Given the description of an element on the screen output the (x, y) to click on. 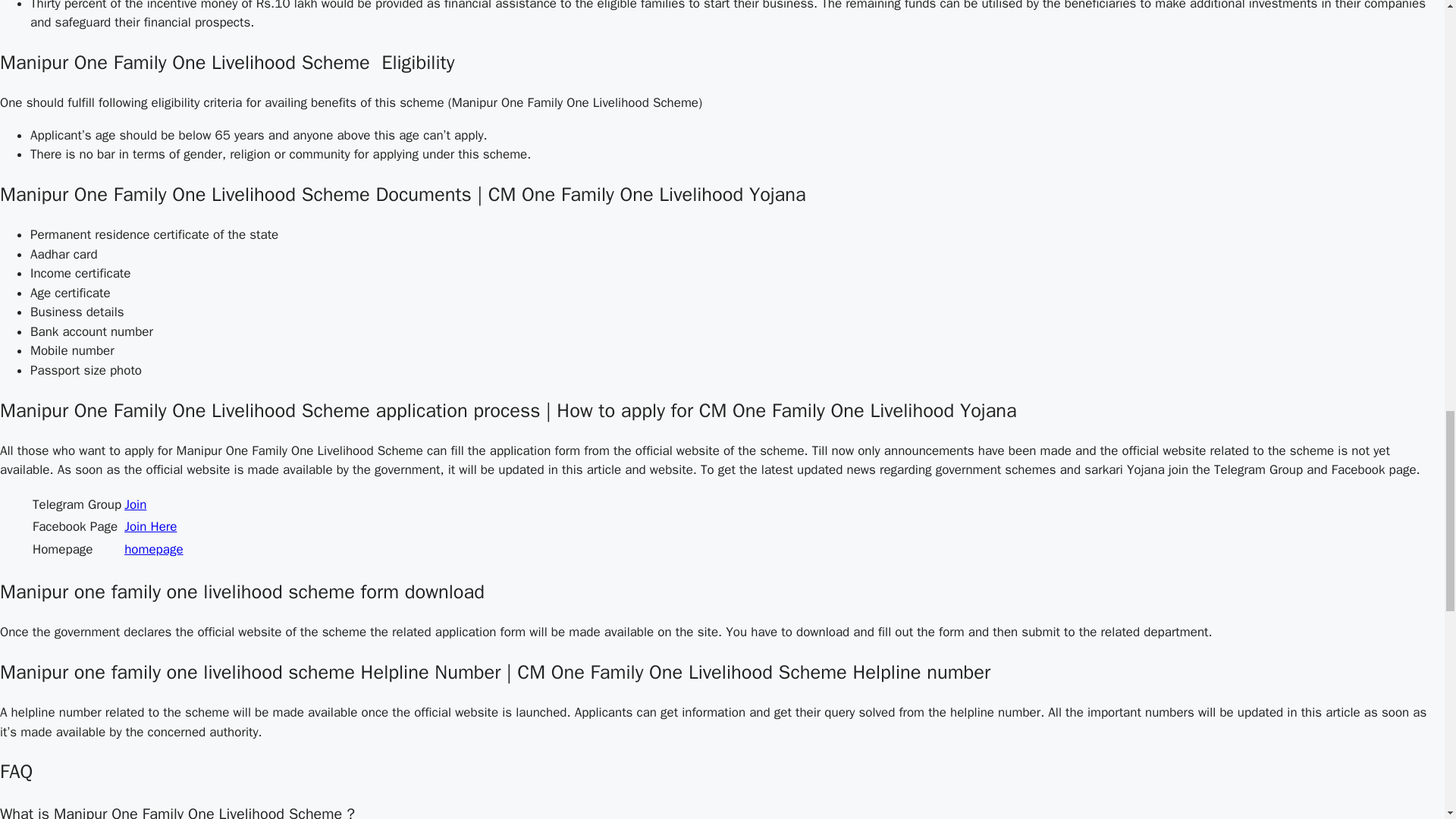
homepage (153, 549)
Join Here (149, 526)
Join (135, 504)
